Given the description of an element on the screen output the (x, y) to click on. 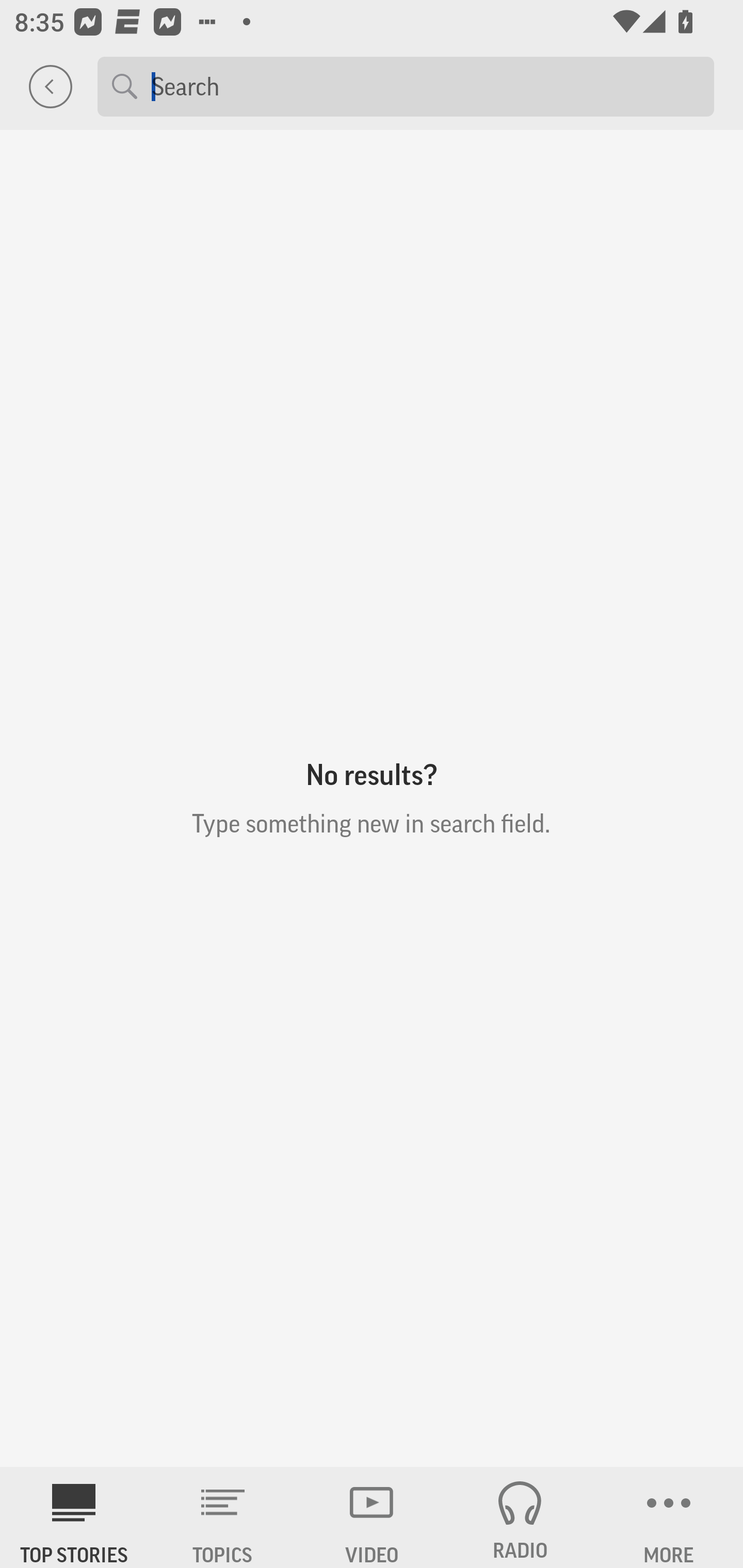
Search (425, 86)
AP News TOP STORIES (74, 1517)
TOPICS (222, 1517)
VIDEO (371, 1517)
RADIO (519, 1517)
MORE (668, 1517)
